Given the description of an element on the screen output the (x, y) to click on. 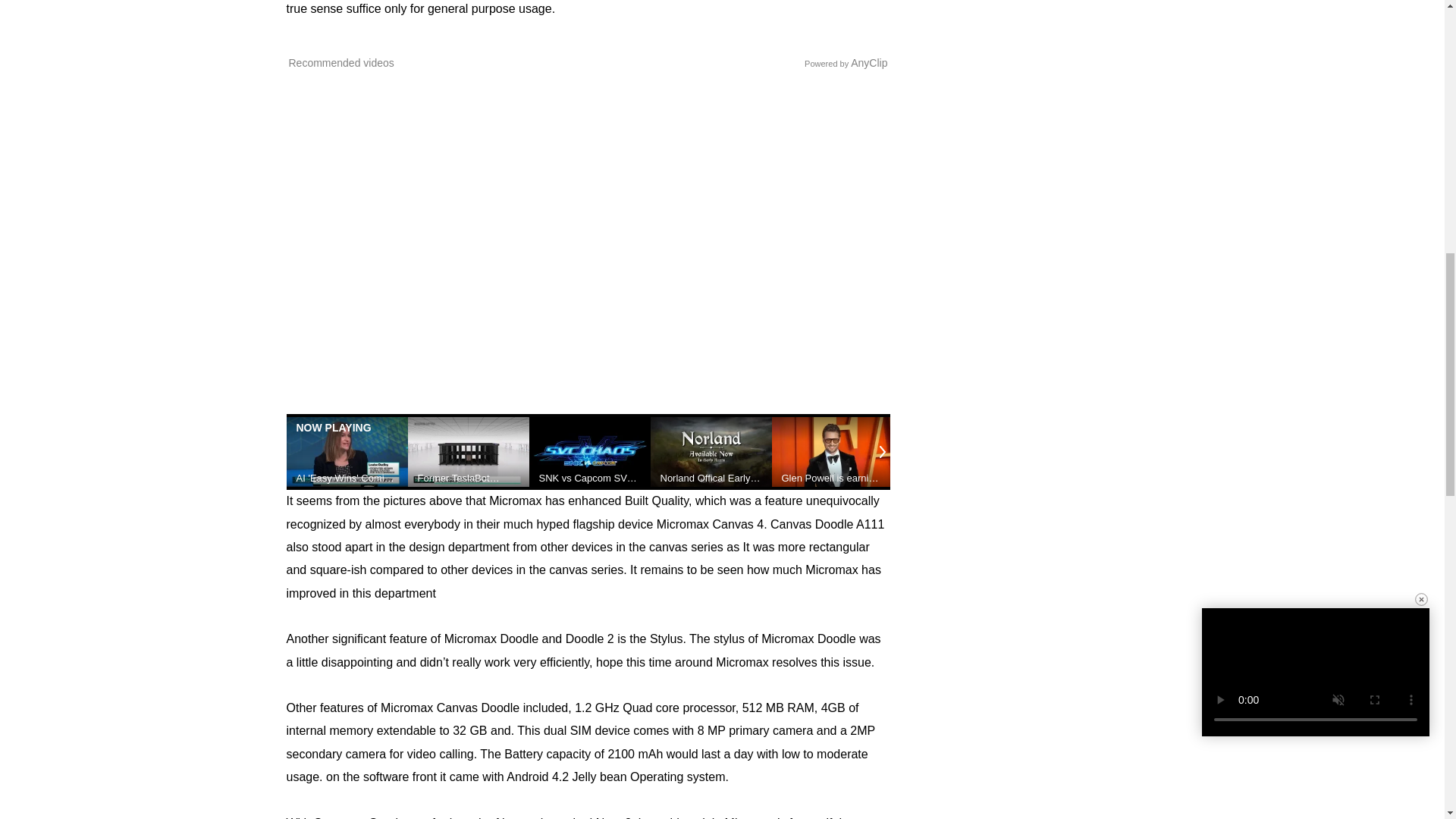
AI 'Easy Wins' Coming in Next 12 Months for Tech: Federated (346, 478)
AnyClip (868, 62)
